Given the description of an element on the screen output the (x, y) to click on. 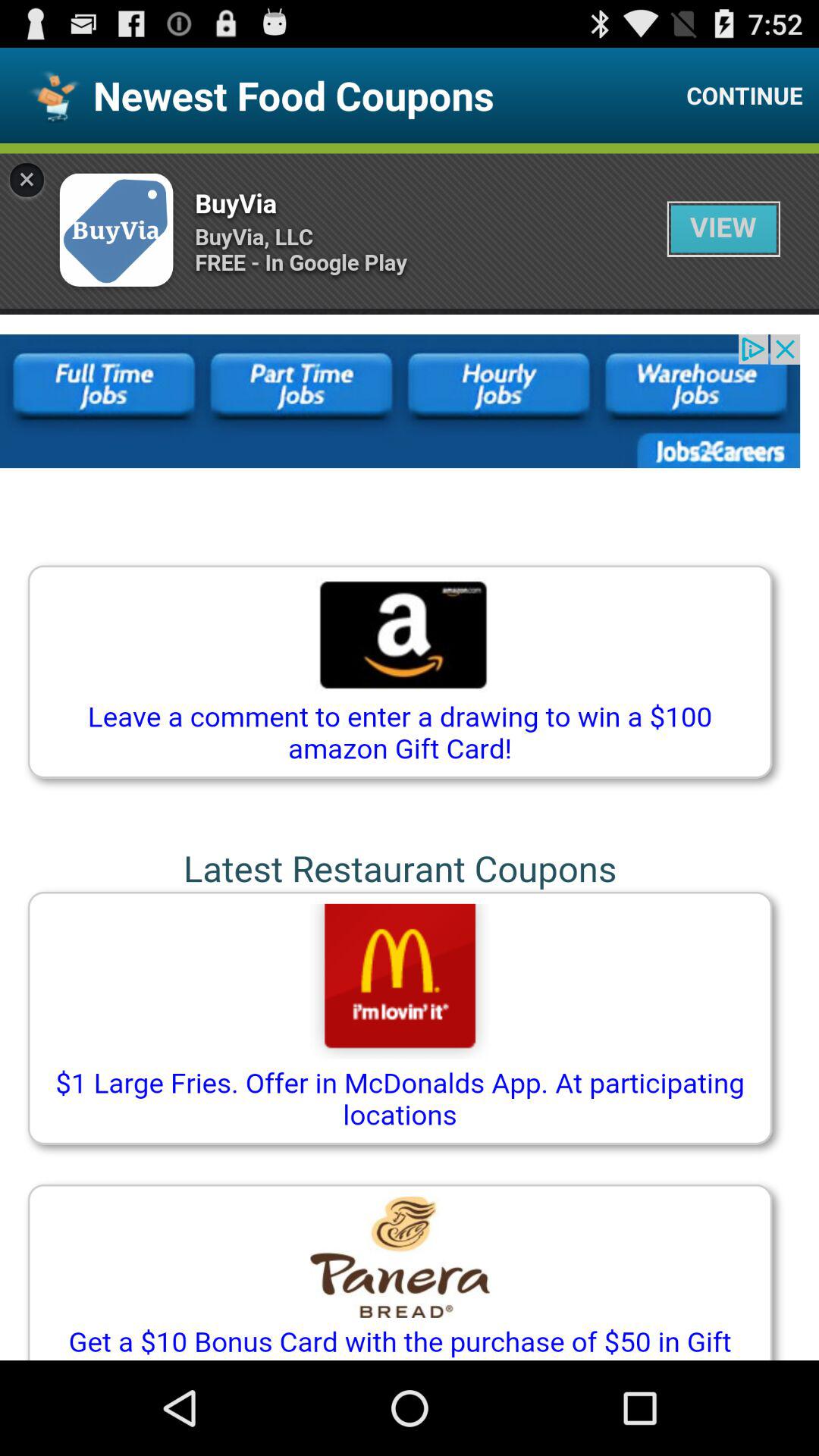
view coupons (409, 751)
